Given the description of an element on the screen output the (x, y) to click on. 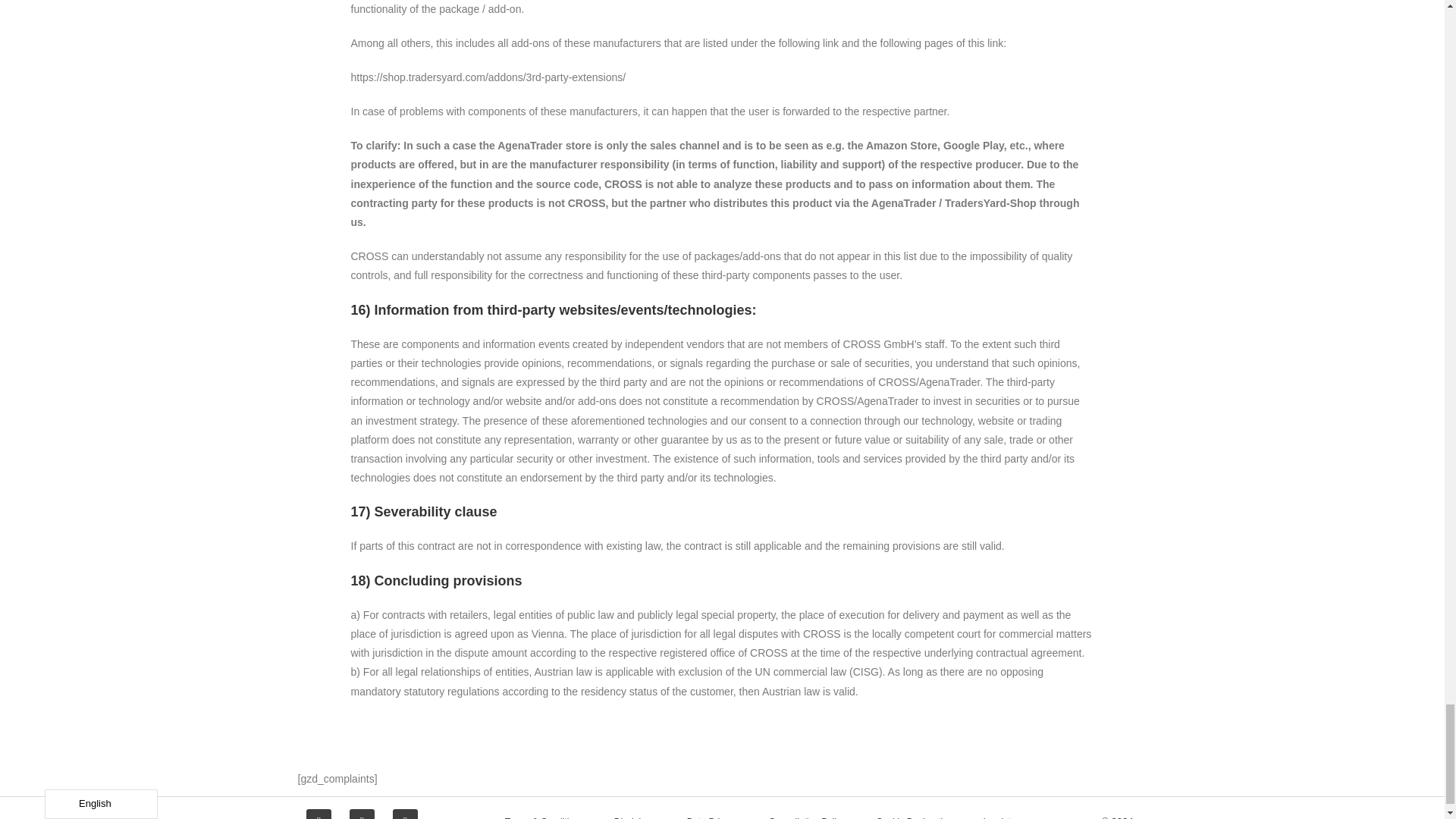
Cancellation Policy (807, 811)
Cookie Declaration (914, 811)
Data Privacy (712, 811)
Imprint (997, 811)
Disclaimer (634, 811)
